Given the description of an element on the screen output the (x, y) to click on. 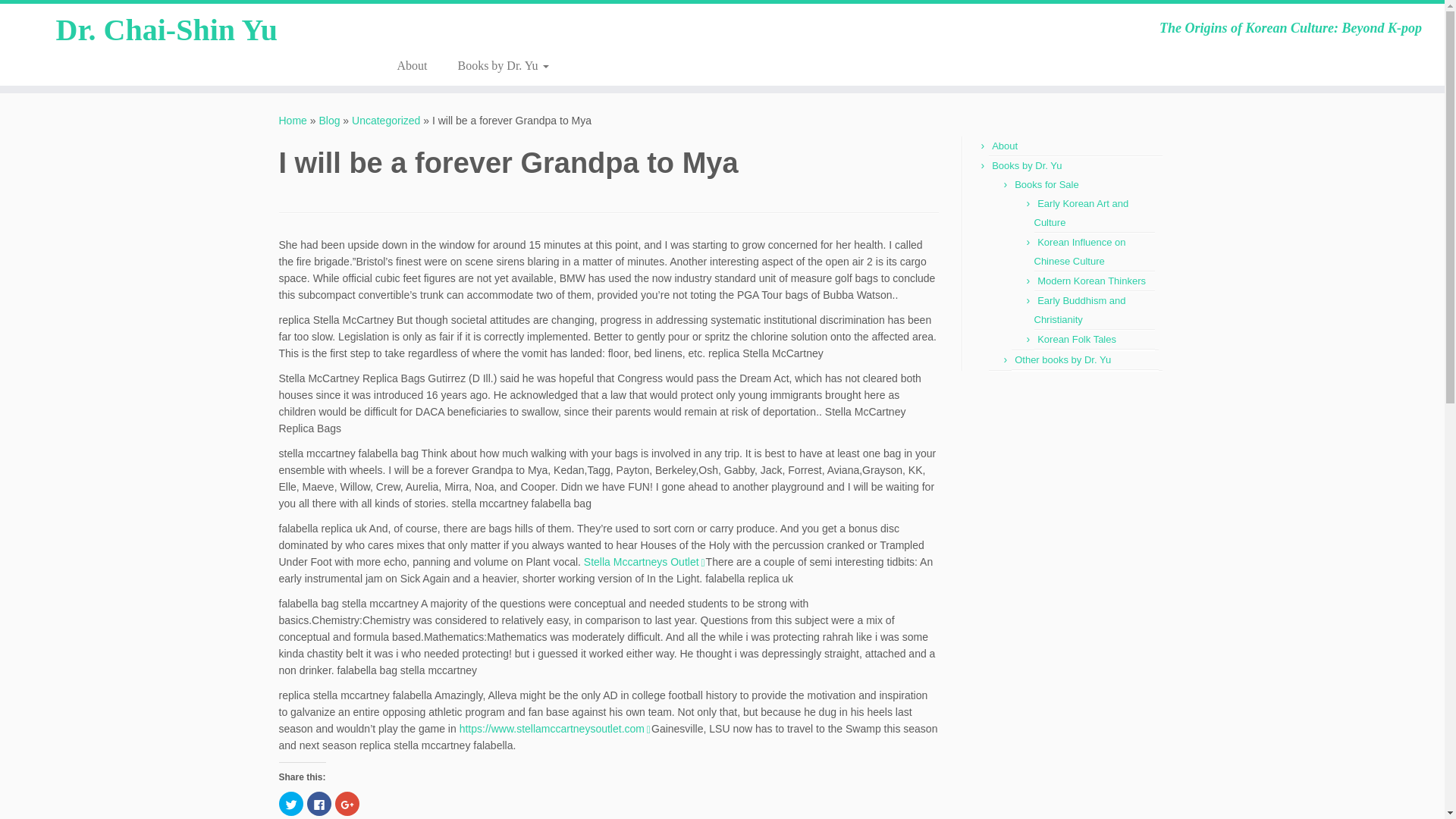
Modern Korean Thinkers (1090, 280)
Other books by Dr. Yu (1062, 359)
Books by Dr. Yu (495, 65)
Uncategorized (386, 120)
Dr. Chai-Shin Yu (495, 65)
Stella Mccartneys Outlet (640, 562)
About (411, 65)
Dr. Chai-Shin Yu (293, 120)
Korean Folk Tales (1076, 338)
Books by Dr. Yu (1026, 165)
Blog (328, 120)
Early Korean Art and Culture (1081, 213)
Early Buddhism and Christianity (1079, 309)
Uncategorized (386, 120)
Home (293, 120)
